Given the description of an element on the screen output the (x, y) to click on. 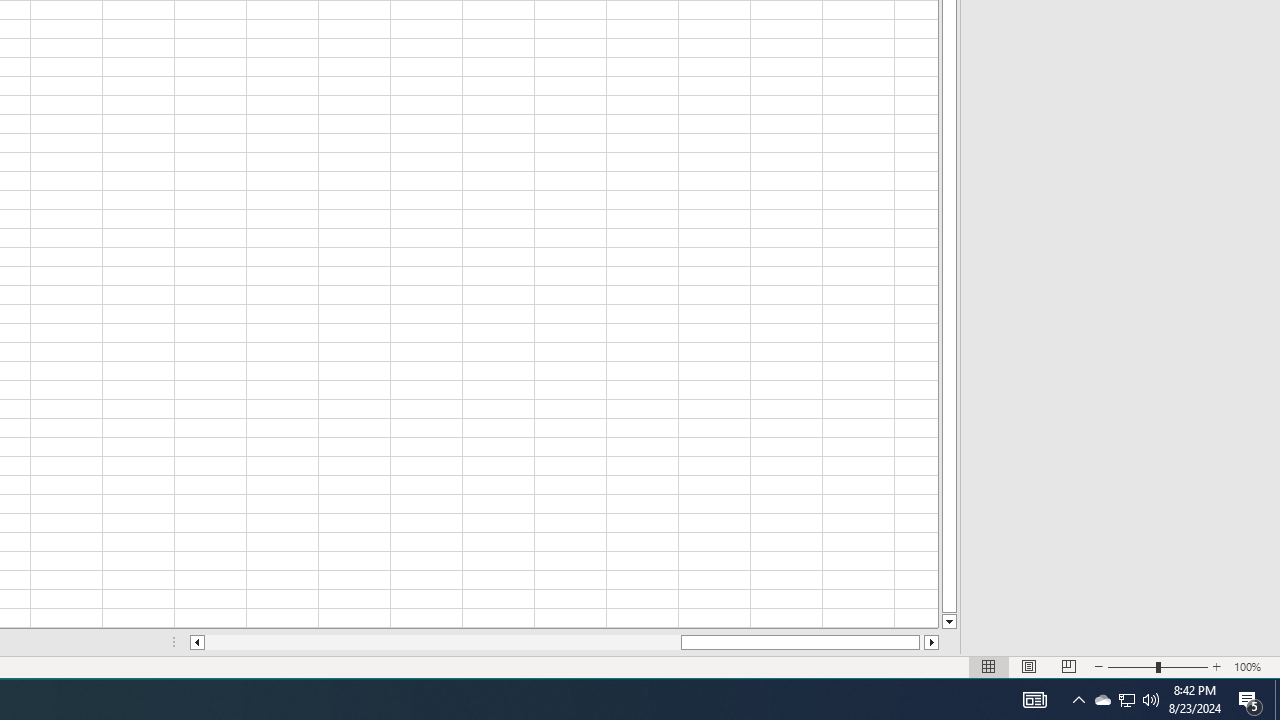
Q2790: 100% (1126, 699)
